Given the description of an element on the screen output the (x, y) to click on. 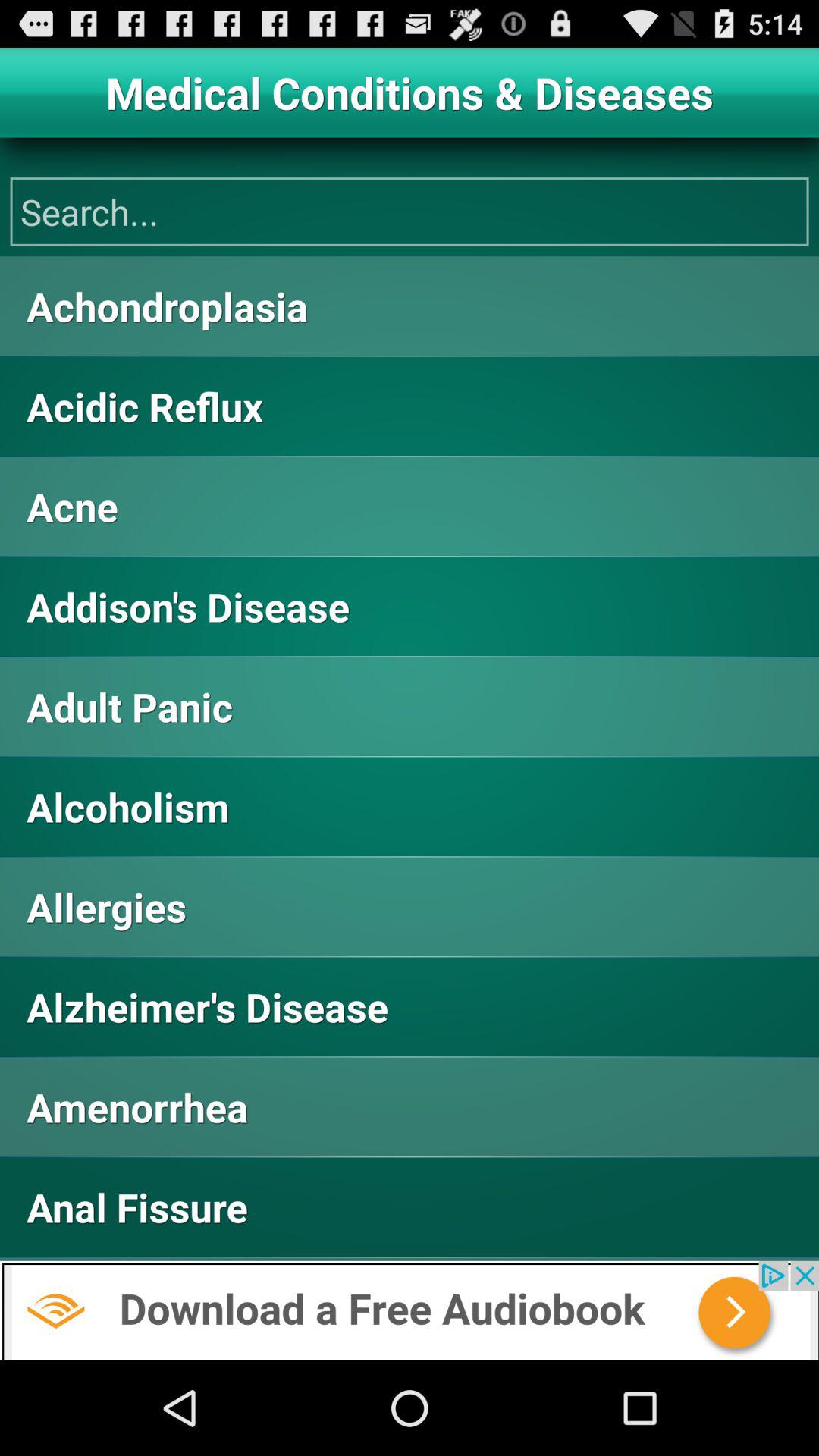
advertisement area (409, 1310)
